Given the description of an element on the screen output the (x, y) to click on. 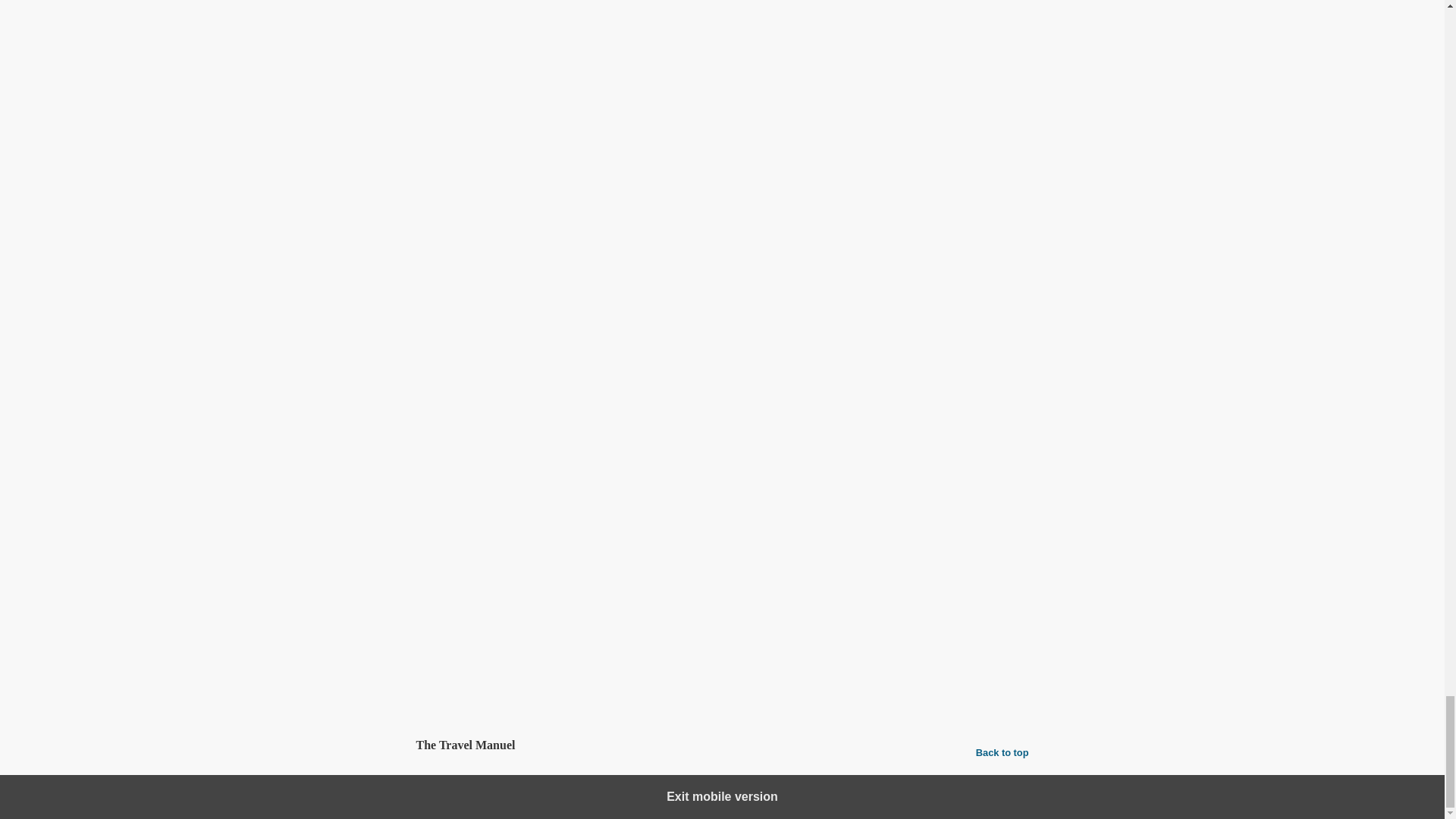
Back to top (1002, 752)
guest posts (500, 638)
merino wool clothes (919, 582)
Leave a Comment (721, 686)
